Given the description of an element on the screen output the (x, y) to click on. 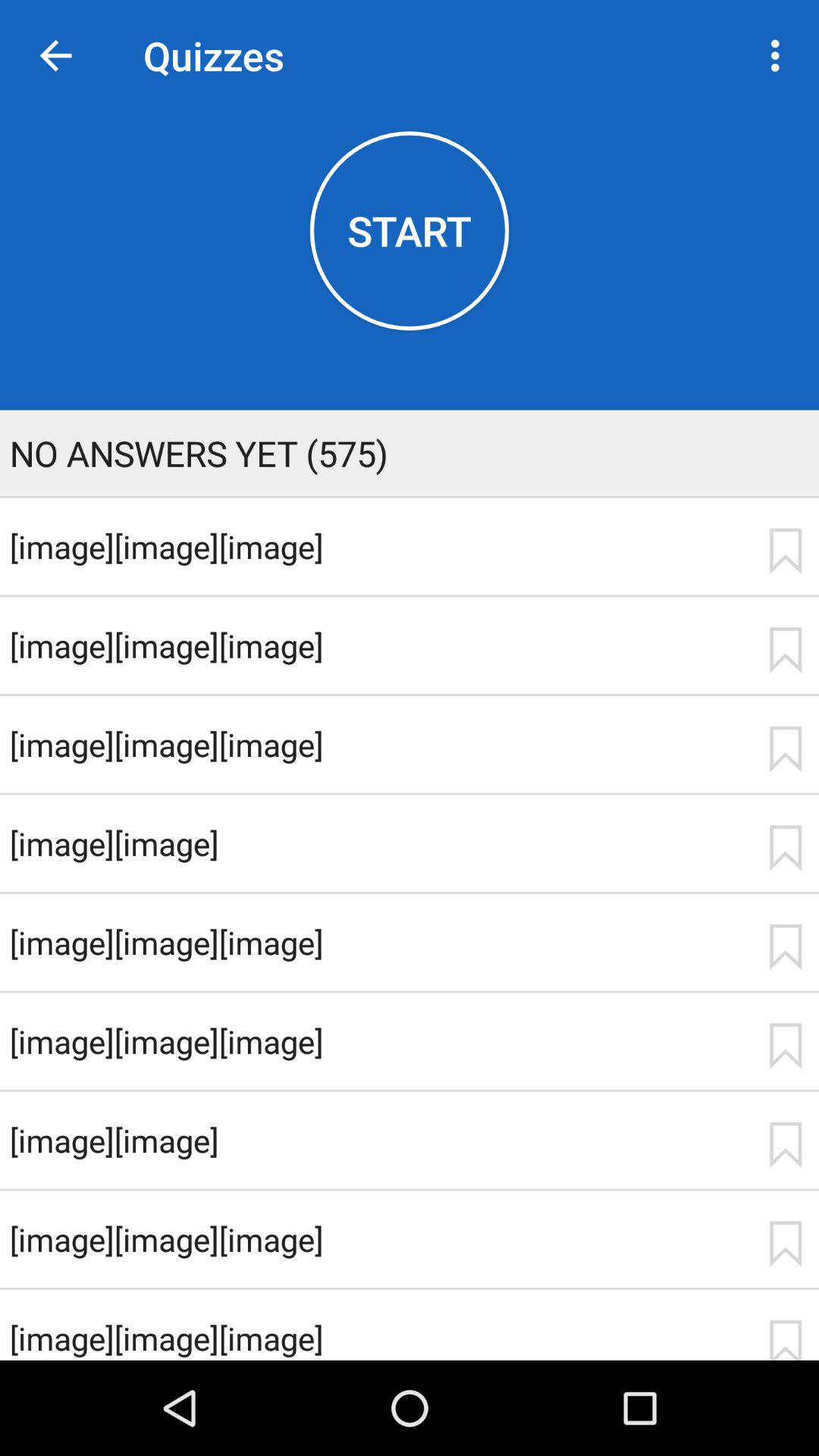
bookmark (784, 650)
